Given the description of an element on the screen output the (x, y) to click on. 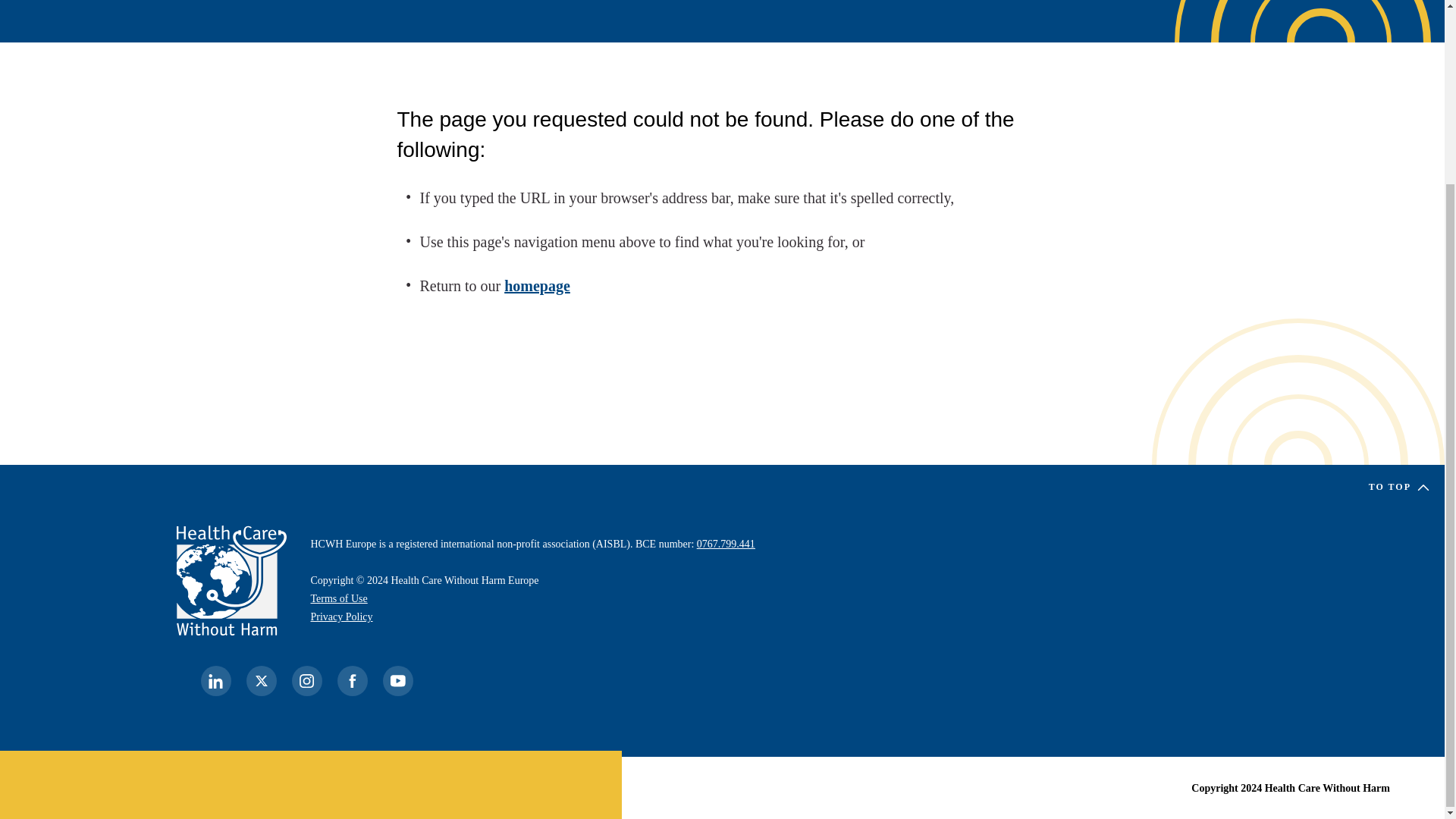
Home (230, 580)
Terms of use (339, 598)
Privacy policy (341, 616)
